Given the description of an element on the screen output the (x, y) to click on. 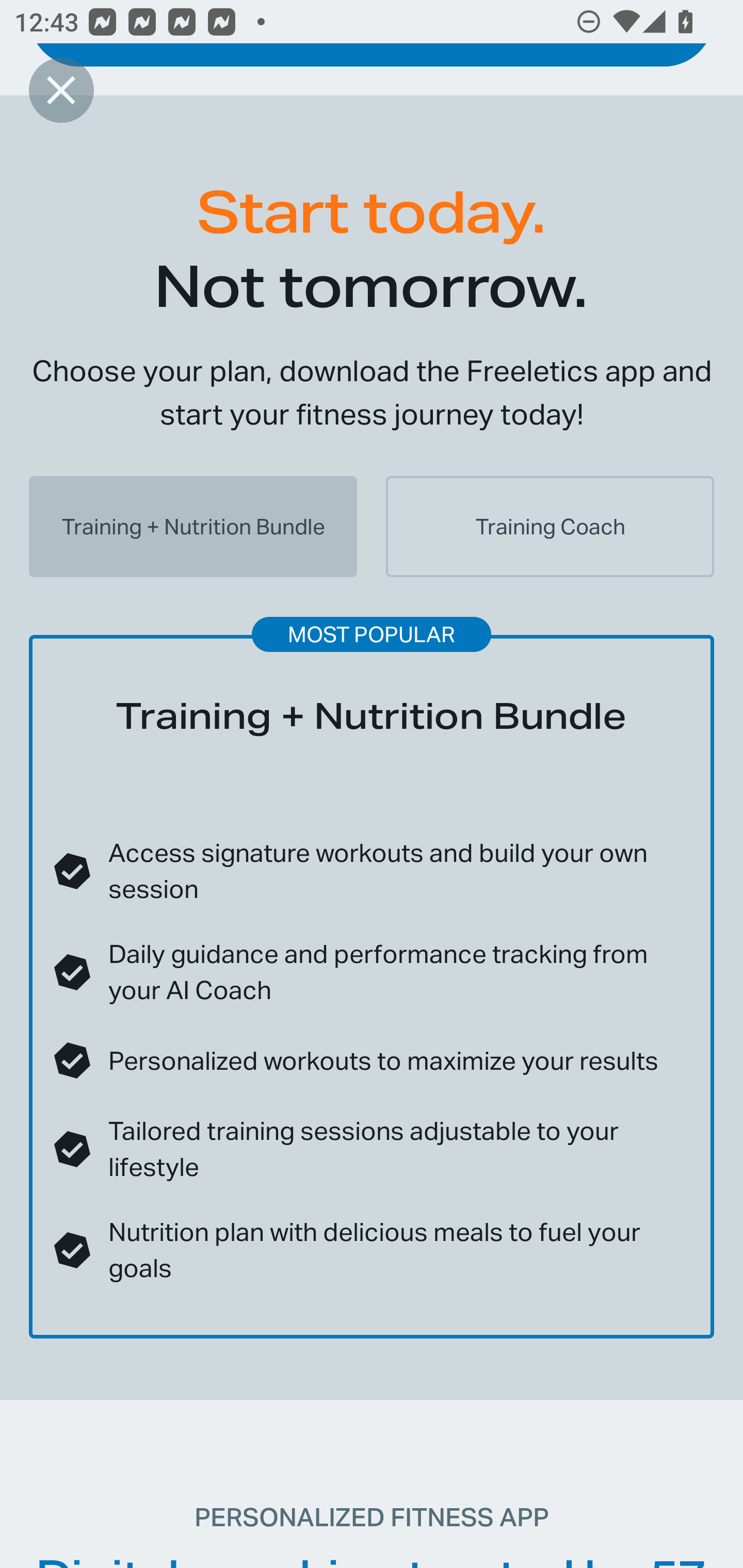
Close (60, 90)
Training + Nutrition Bundle (192, 526)
Training Coach (549, 526)
